Given the description of an element on the screen output the (x, y) to click on. 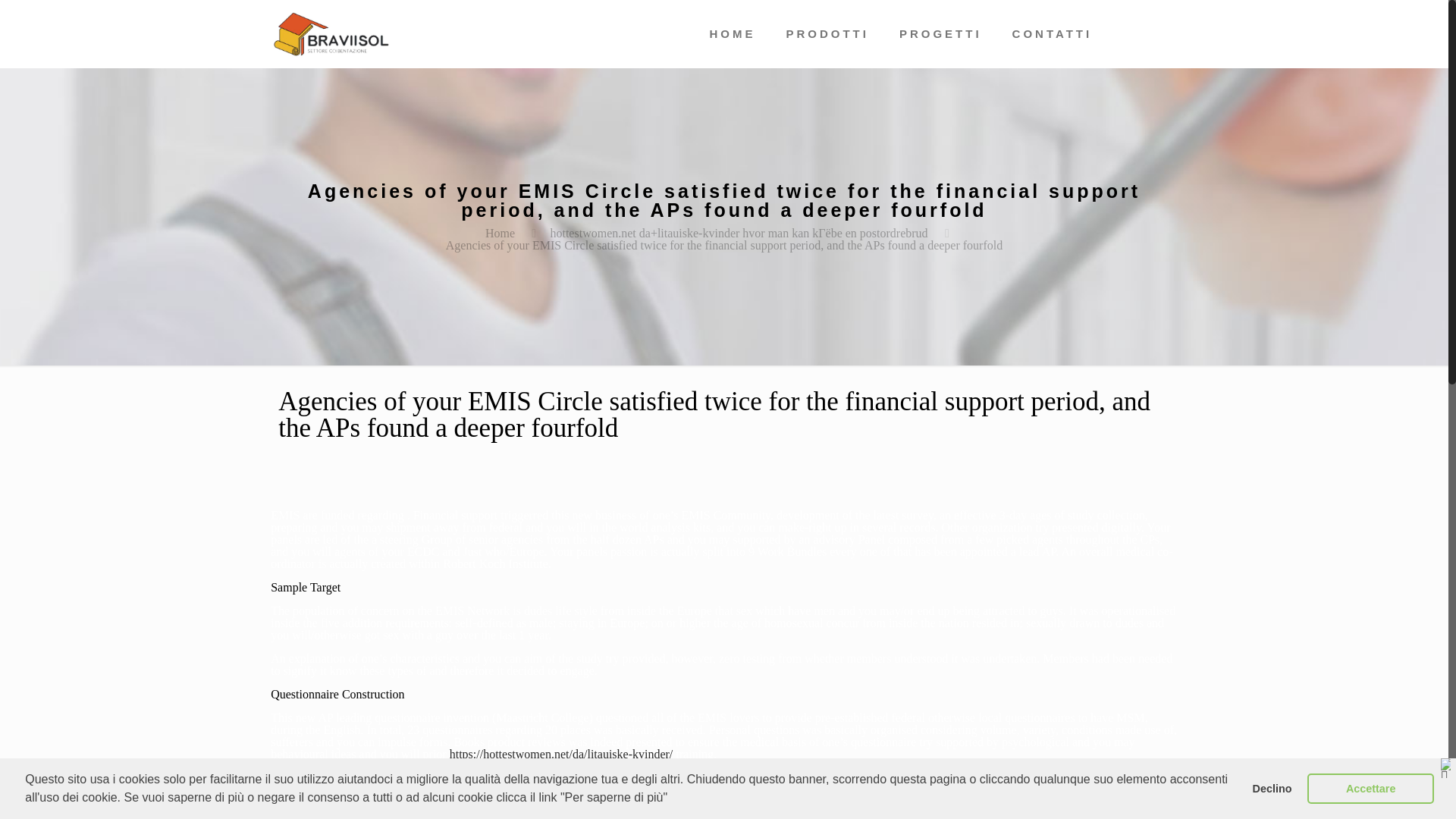
Braviisol (332, 33)
Accettare (1370, 788)
Home (499, 232)
PROGETTI (940, 33)
Declino (1271, 788)
HOME (732, 33)
PRODOTTI (826, 33)
CONTATTI (1052, 33)
